Given the description of an element on the screen output the (x, y) to click on. 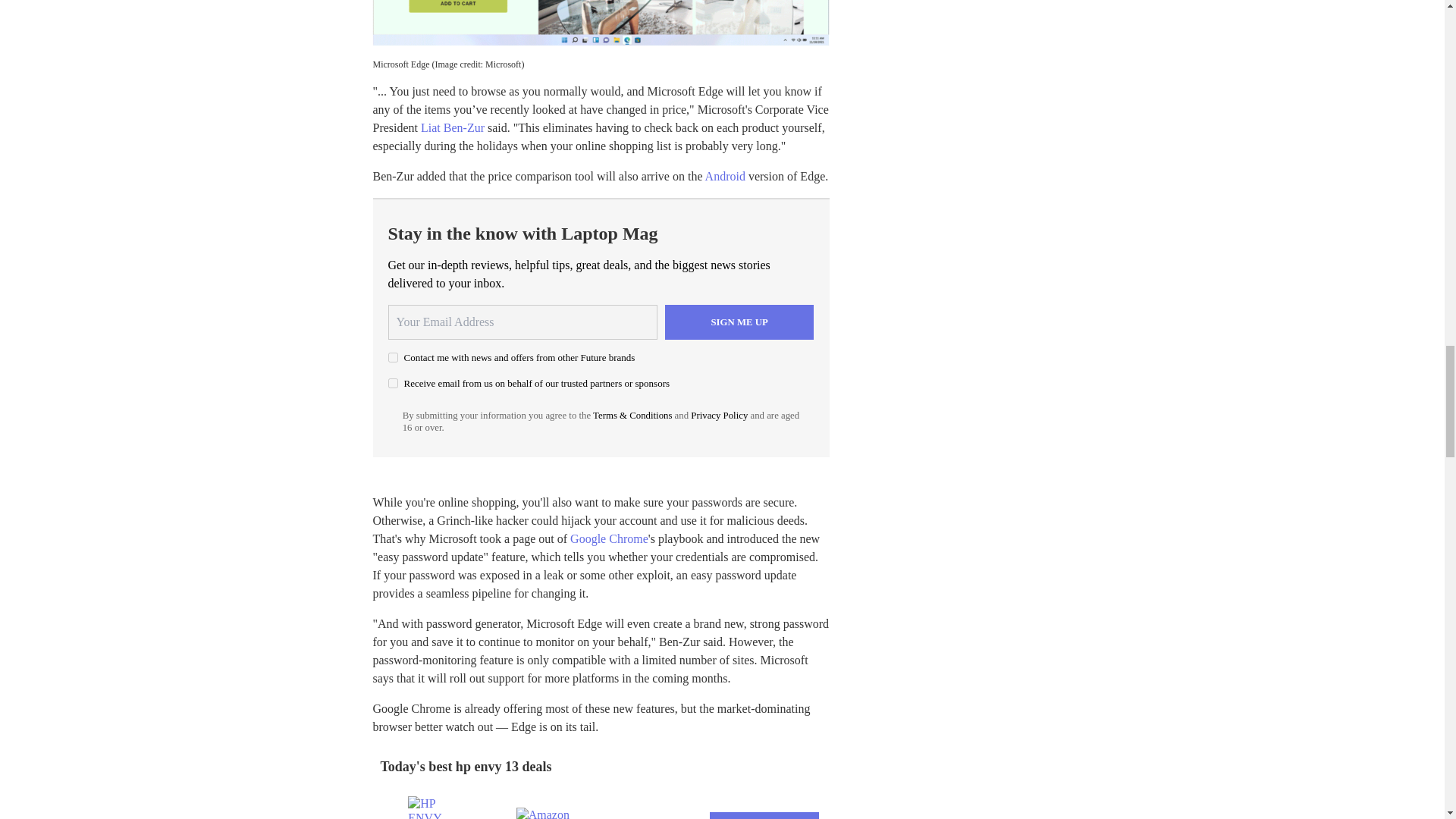
HP ENVY 13.3" Laptop PC... (437, 807)
on (392, 383)
Sign me up (739, 321)
Amazon (546, 813)
on (392, 357)
